Given the description of an element on the screen output the (x, y) to click on. 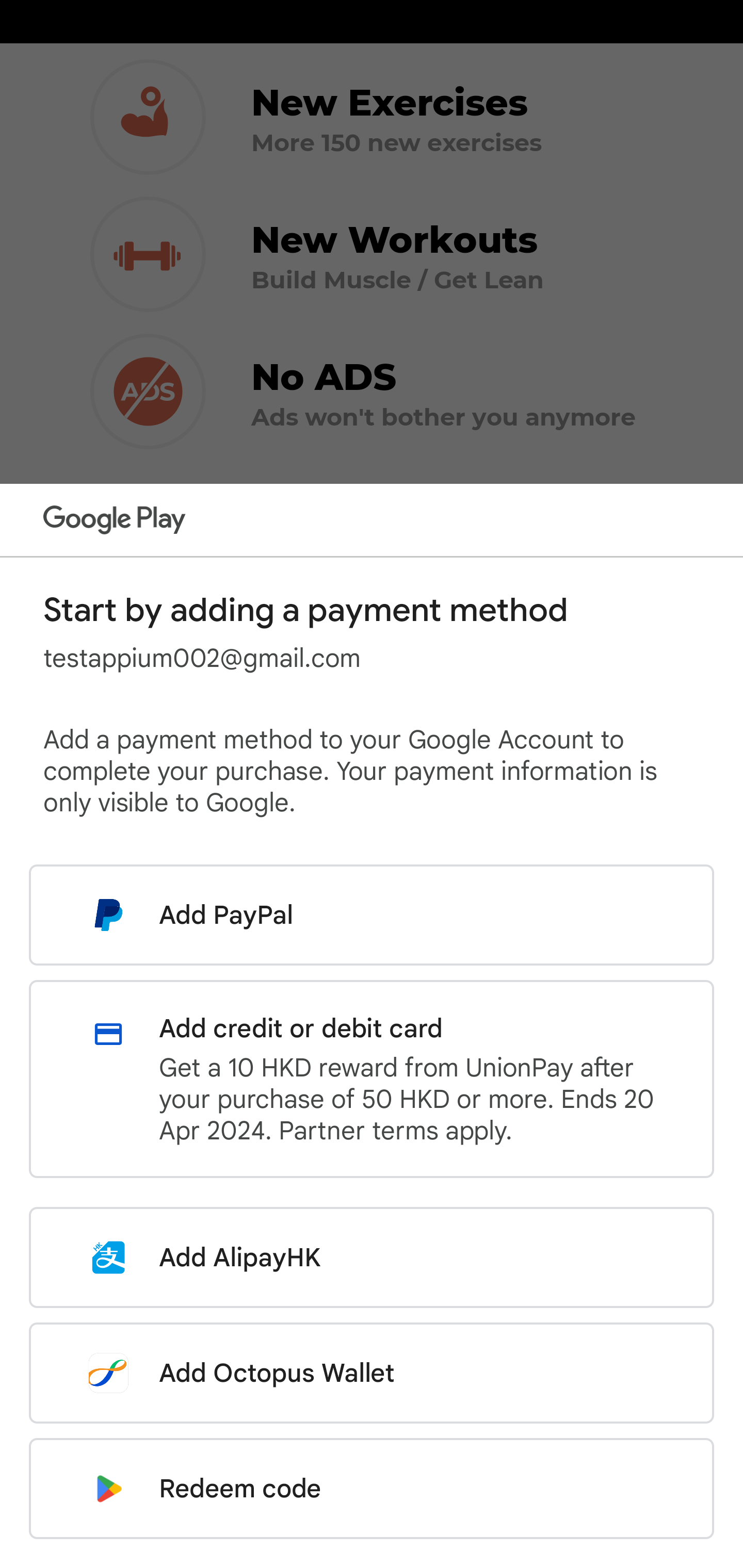
Add PayPal (371, 914)
Add AlipayHK (371, 1257)
Add Octopus Wallet (371, 1372)
Redeem code (371, 1488)
